Given the description of an element on the screen output the (x, y) to click on. 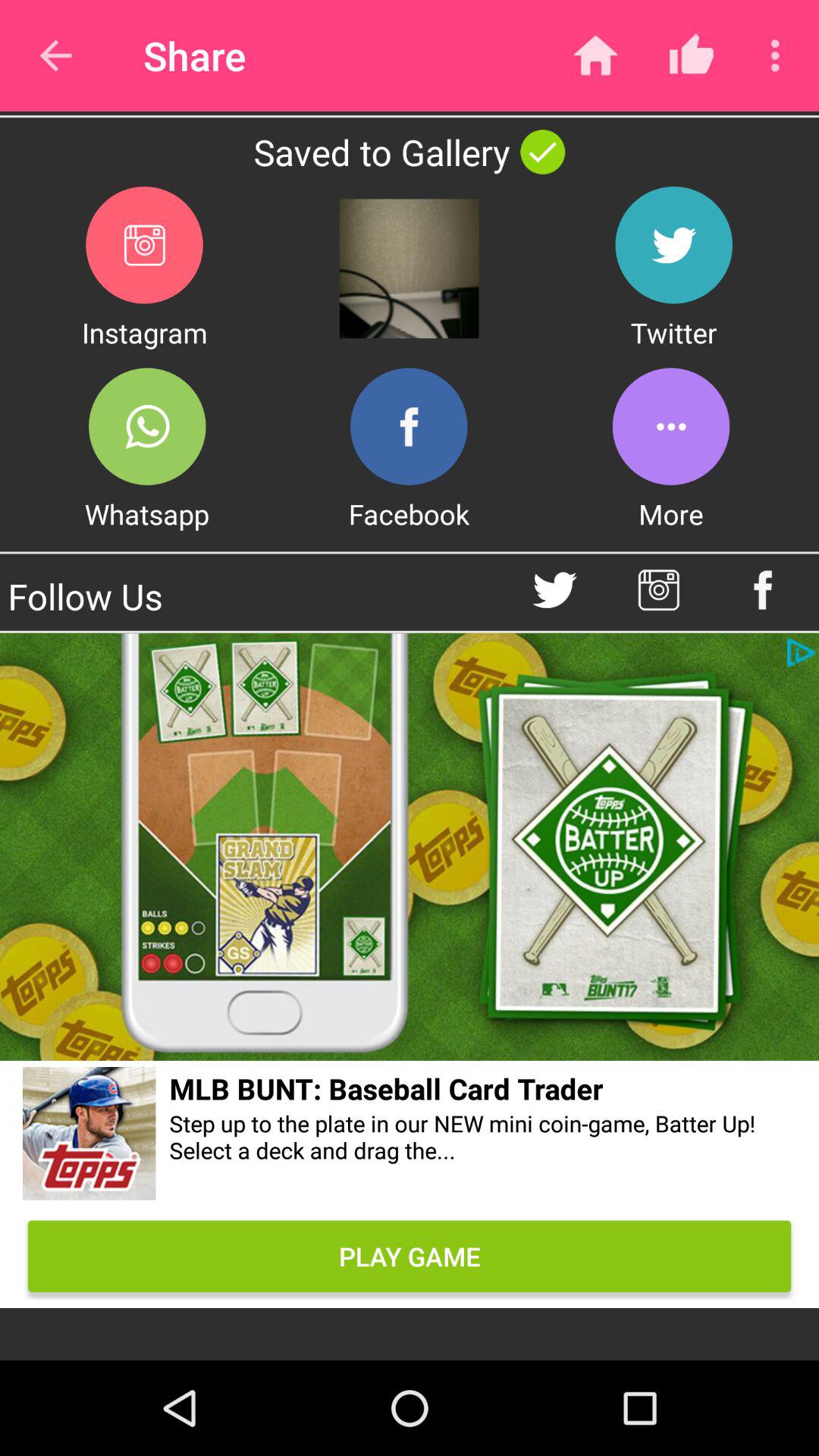
whatsapp button (146, 426)
